Given the description of an element on the screen output the (x, y) to click on. 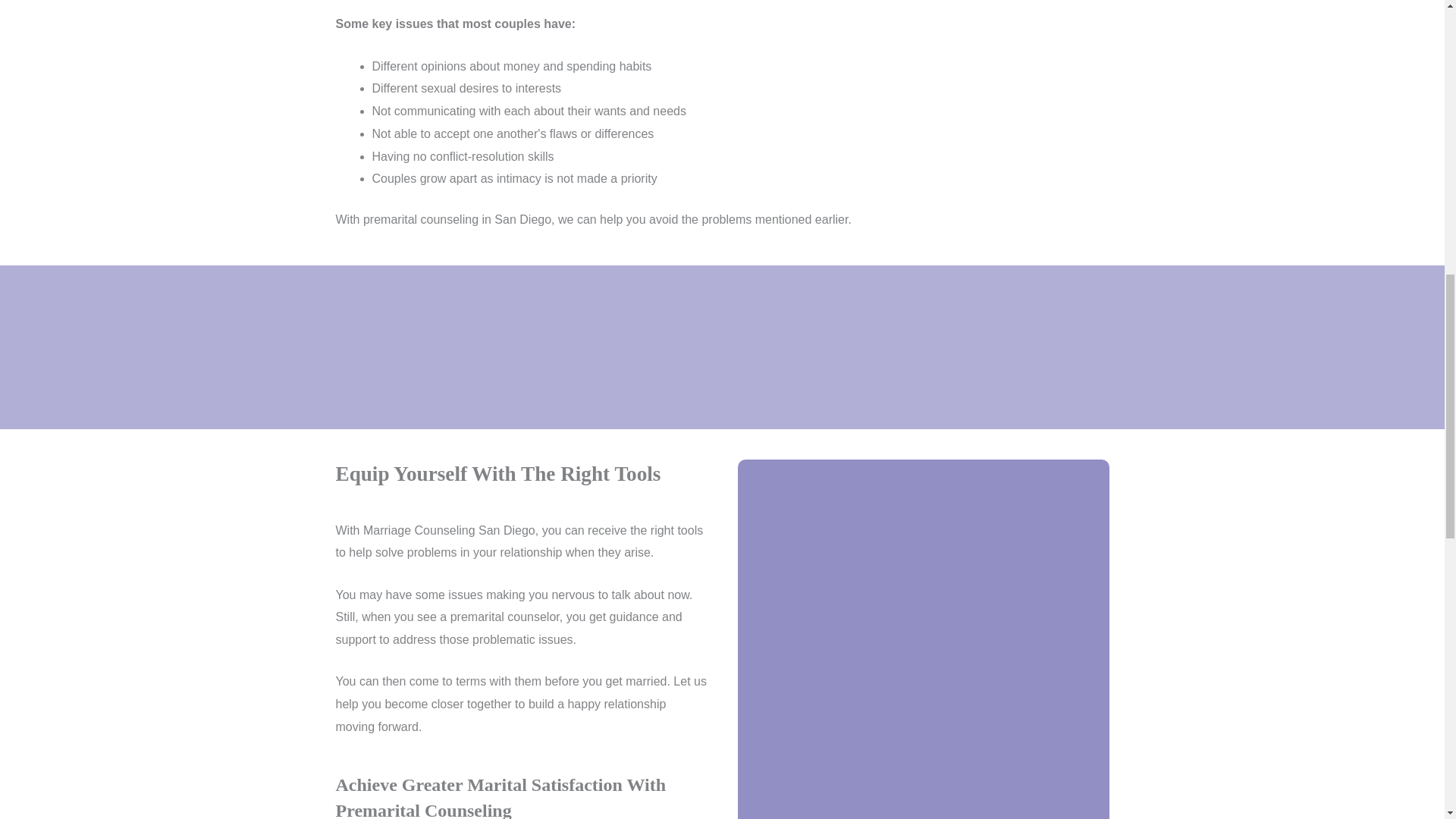
Premarital Counseling Benefits San Diego CA 92104 (922, 639)
